Given the description of an element on the screen output the (x, y) to click on. 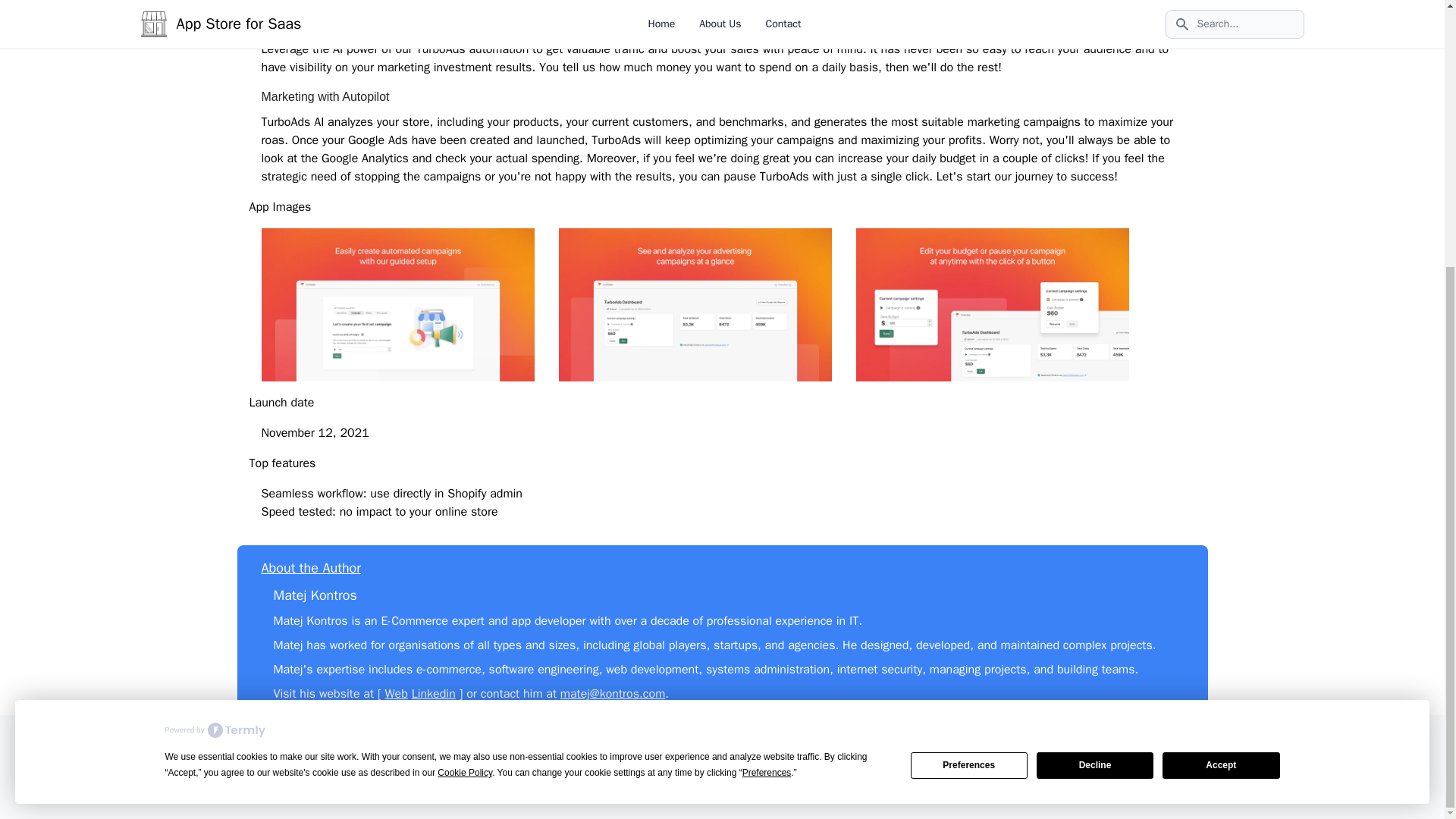
Preferences (969, 378)
Web (395, 693)
Privacy Policy (813, 791)
Linkedin (433, 693)
Matej Kontros (314, 595)
Accept (1220, 378)
Consent Preferences (631, 791)
Cookie Policy (975, 791)
Decline (1094, 378)
